Given the description of an element on the screen output the (x, y) to click on. 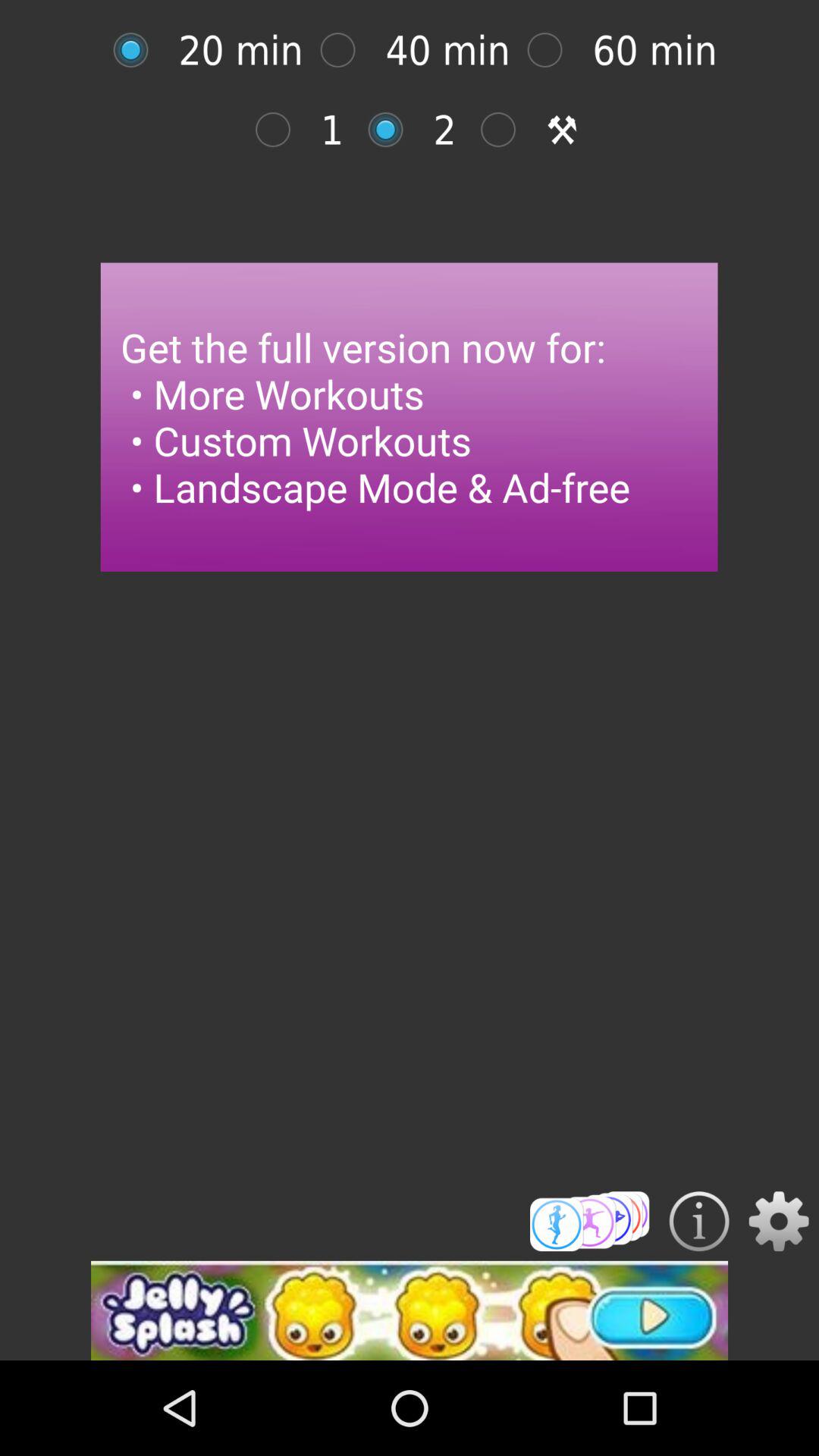
min setting option (280, 129)
